Given the description of an element on the screen output the (x, y) to click on. 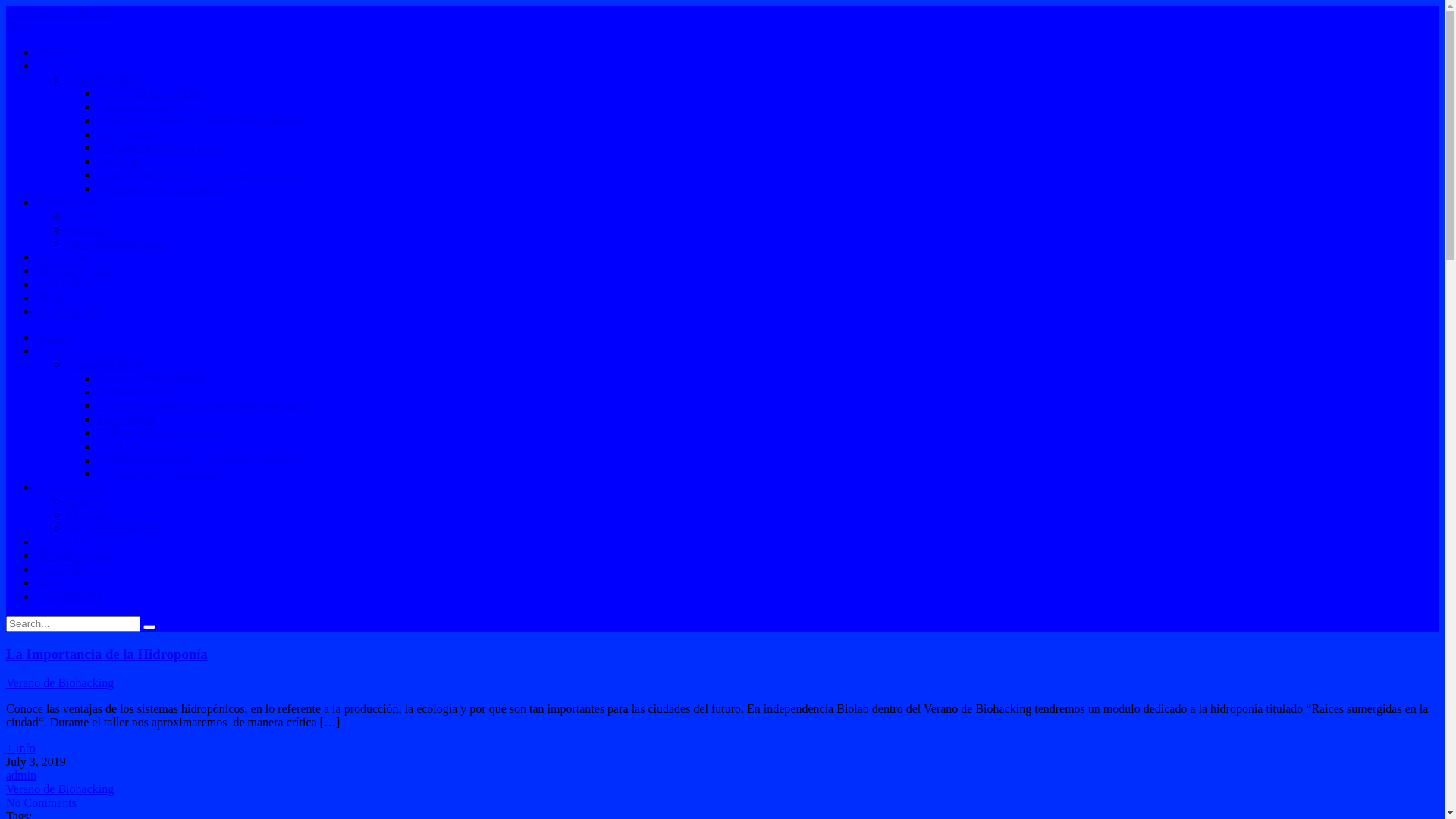
Cursos Element type: text (52, 350)
Comunicar Luz Element type: text (134, 391)
El Eterno Retorno a Casa Element type: text (158, 432)
Comunicar Luz Element type: text (134, 106)
RESIDENCIAS Element type: text (75, 269)
CONTACTO Element type: text (68, 310)
Verano de Biohacking Element type: text (59, 682)
Acerca De Element type: text (61, 541)
El sonido de la naturaleza Element type: text (159, 188)
Verano de Biohacking Element type: text (59, 788)
Zodiaco Element type: text (86, 215)
Flocking Element type: text (87, 514)
Trans*plant Element type: text (125, 133)
BLOG Element type: text (52, 297)
CONTACTO Element type: text (68, 595)
Verano de Biohacking Element type: text (150, 92)
PROYECTOS Element type: text (71, 486)
admin Element type: text (21, 774)
Verano de Biohacking Element type: text (150, 377)
Cursos Element type: text (52, 65)
ANTERIORES Element type: text (104, 78)
Trans*plant Element type: text (125, 418)
El Eterno Retorno a Casa Element type: text (158, 147)
PROYECTOS Element type: text (71, 201)
RESIDENCIAS Element type: text (75, 555)
Acerca De Element type: text (61, 256)
+ info Element type: text (722, 748)
Pixel Art Element type: text (118, 445)
INICIO Element type: text (55, 51)
Pixel Art Element type: text (118, 160)
ANTERIORES Element type: text (104, 363)
No Comments Element type: text (41, 802)
Independencia BioLab Element type: text (61, 12)
INICIO Element type: text (55, 336)
El sonido de la naturaleza Element type: text (159, 473)
Flocking Element type: text (87, 228)
BLOG Element type: text (52, 582)
Zodiaco Element type: text (86, 500)
Menu Element type: text (20, 25)
